Given the description of an element on the screen output the (x, y) to click on. 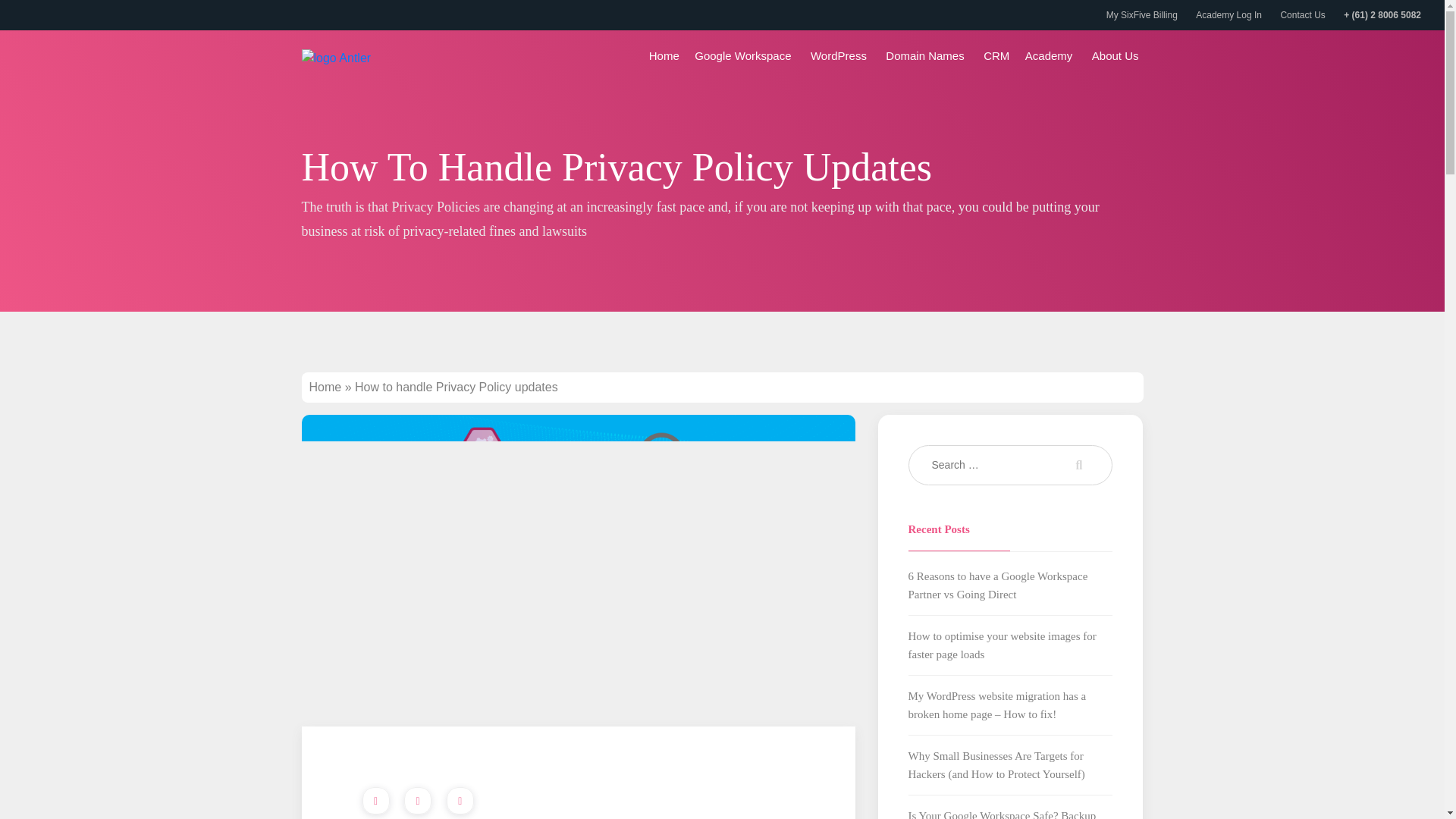
Academy (1051, 55)
Home (664, 55)
About Us (1117, 55)
Home (325, 386)
CRM (996, 55)
My SixFive Billing (1141, 14)
Google Workspace (744, 55)
WordPress (840, 55)
Contact Us (1301, 14)
Academy Log In (1228, 14)
Domain Names (926, 55)
